Given the description of an element on the screen output the (x, y) to click on. 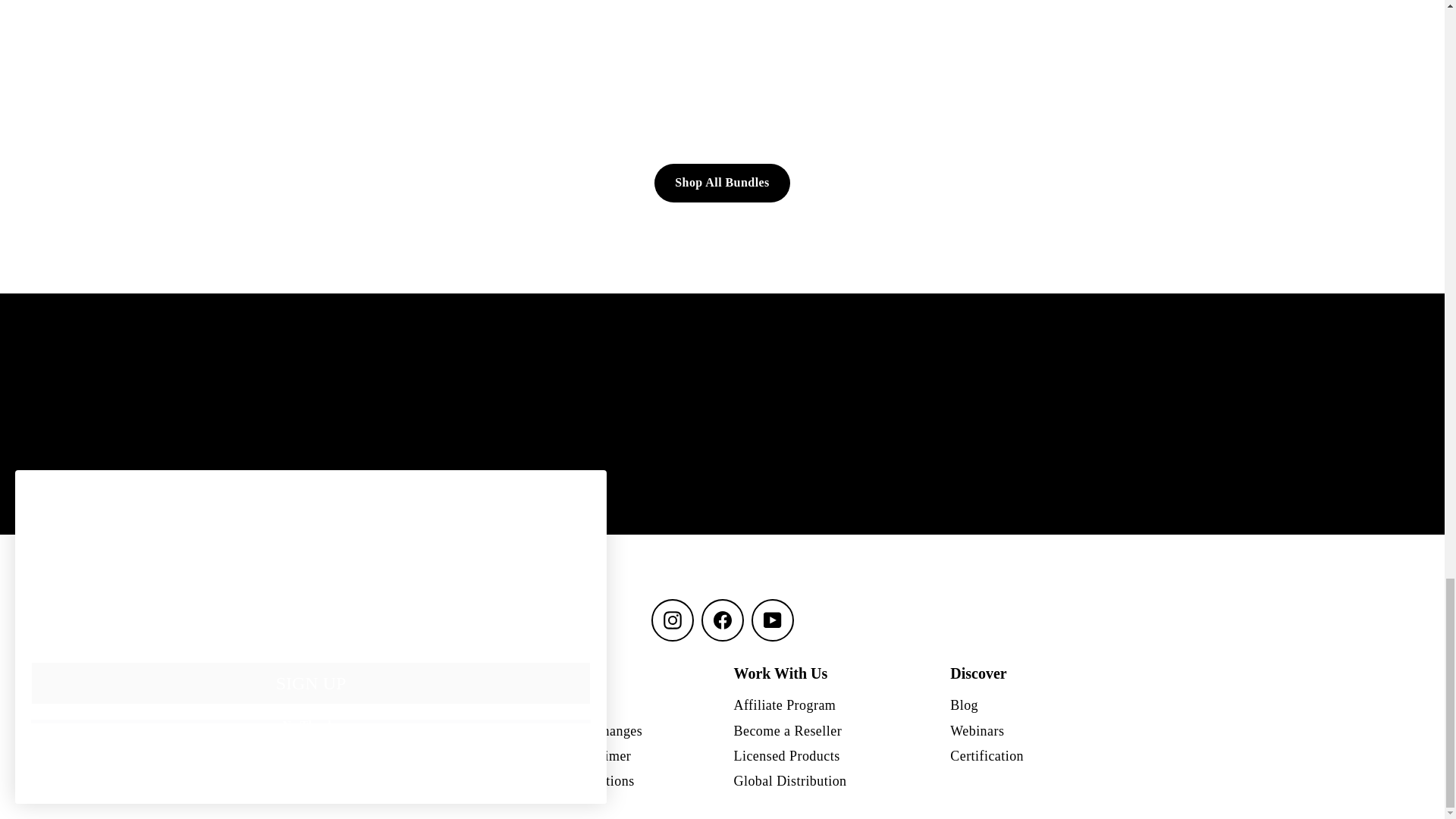
Naboso Canada  on YouTube (772, 619)
Naboso Canada  on Instagram (671, 619)
Naboso Canada  on Facebook (721, 619)
instagram (671, 619)
